Given the description of an element on the screen output the (x, y) to click on. 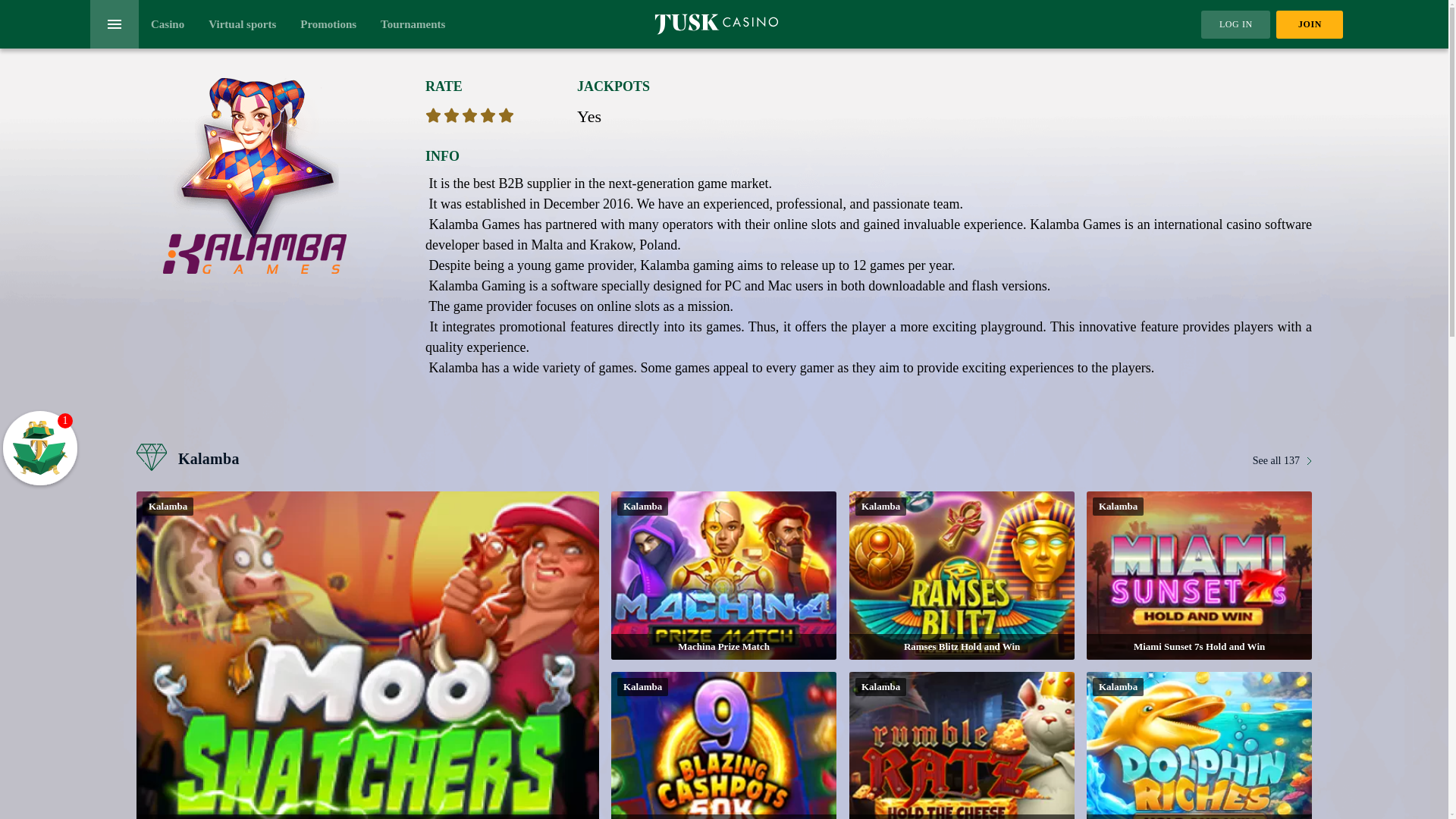
See all 137 (1281, 460)
Virtual sports (242, 24)
Tournaments (412, 24)
Casino (167, 24)
LOG IN (1235, 24)
Promotions (327, 24)
JOIN (1309, 24)
